Given the description of an element on the screen output the (x, y) to click on. 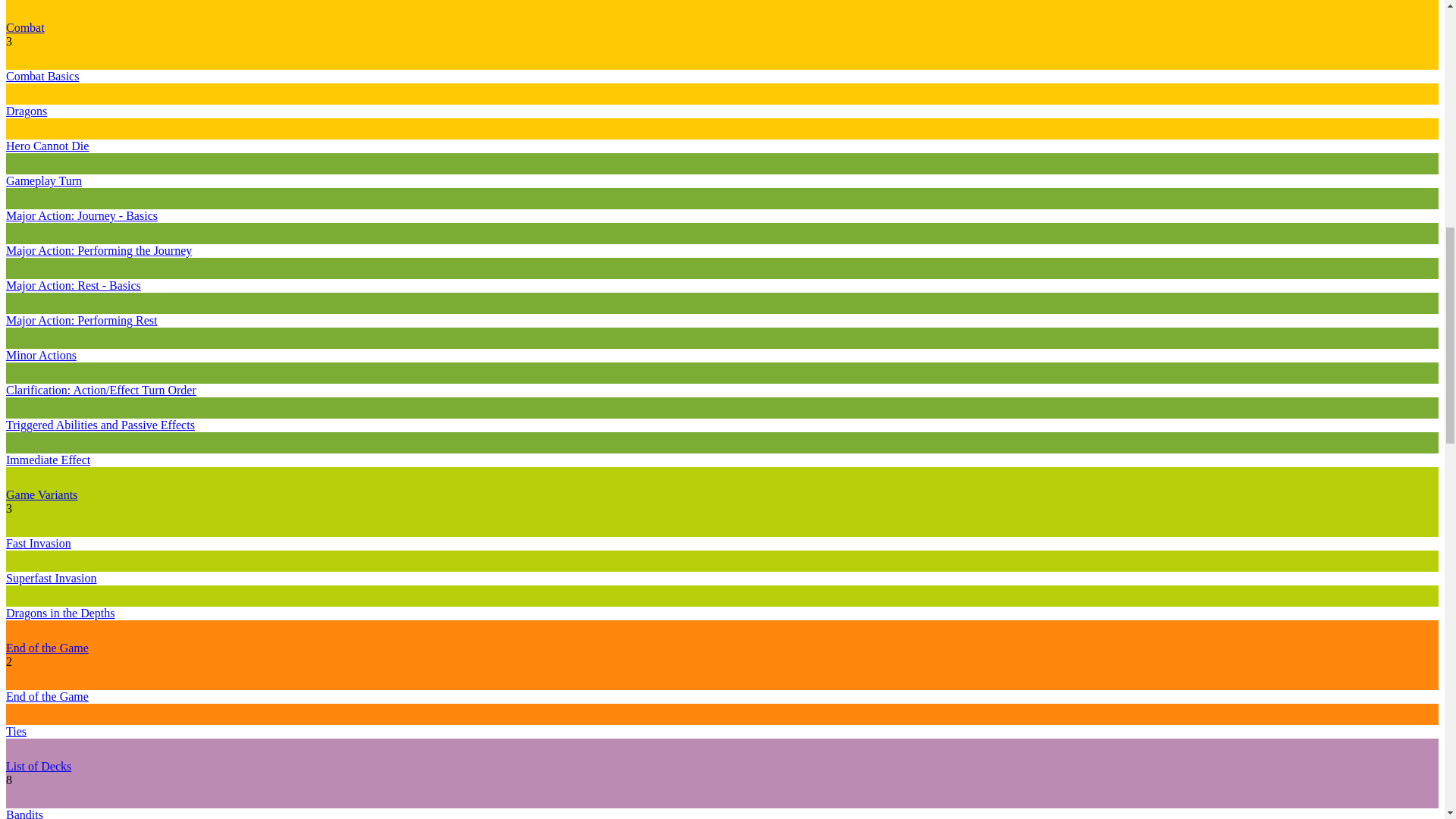
Superfast Invasion (51, 577)
Immediate Effect (47, 459)
Combat (25, 27)
Triggered Abilities and Passive Effects (100, 424)
Dragons in the Depths (60, 612)
Major Action: Performing the Journey (98, 250)
Major Action: Journey - Basics (81, 215)
End of the Game (46, 647)
Gameplay Turn (43, 180)
Minor Actions (41, 354)
